Given the description of an element on the screen output the (x, y) to click on. 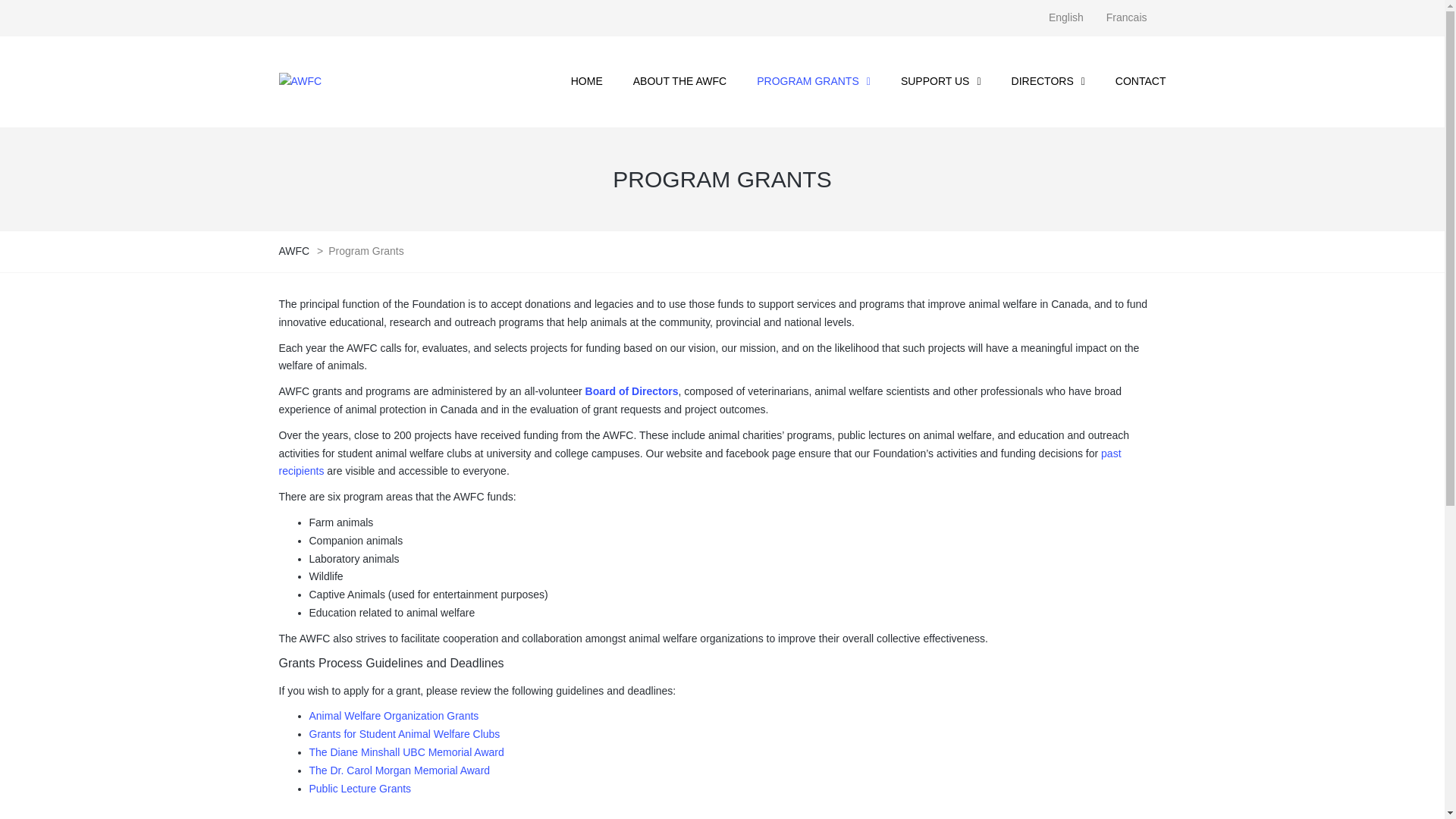
SUPPORT US Element type: text (940, 81)
The Dr. Carol Morgan Memorial Award Element type: text (399, 770)
Public Lecture Grants Element type: text (360, 788)
PROGRAM GRANTS Element type: text (813, 81)
HOME Element type: text (586, 81)
Board of Directors Element type: text (631, 391)
AWFC Element type: text (295, 250)
English Element type: text (1066, 18)
Animal Welfare Organization Grants Element type: text (394, 715)
ABOUT THE AWFC Element type: text (679, 81)
Grants for Student Animal Welfare Clubs Element type: text (404, 734)
The Diane Minshall UBC Memorial Award Element type: text (406, 752)
past recipients Element type: text (700, 462)
Francais Element type: text (1126, 18)
DIRECTORS Element type: text (1048, 81)
CONTACT Element type: text (1133, 81)
